Given the description of an element on the screen output the (x, y) to click on. 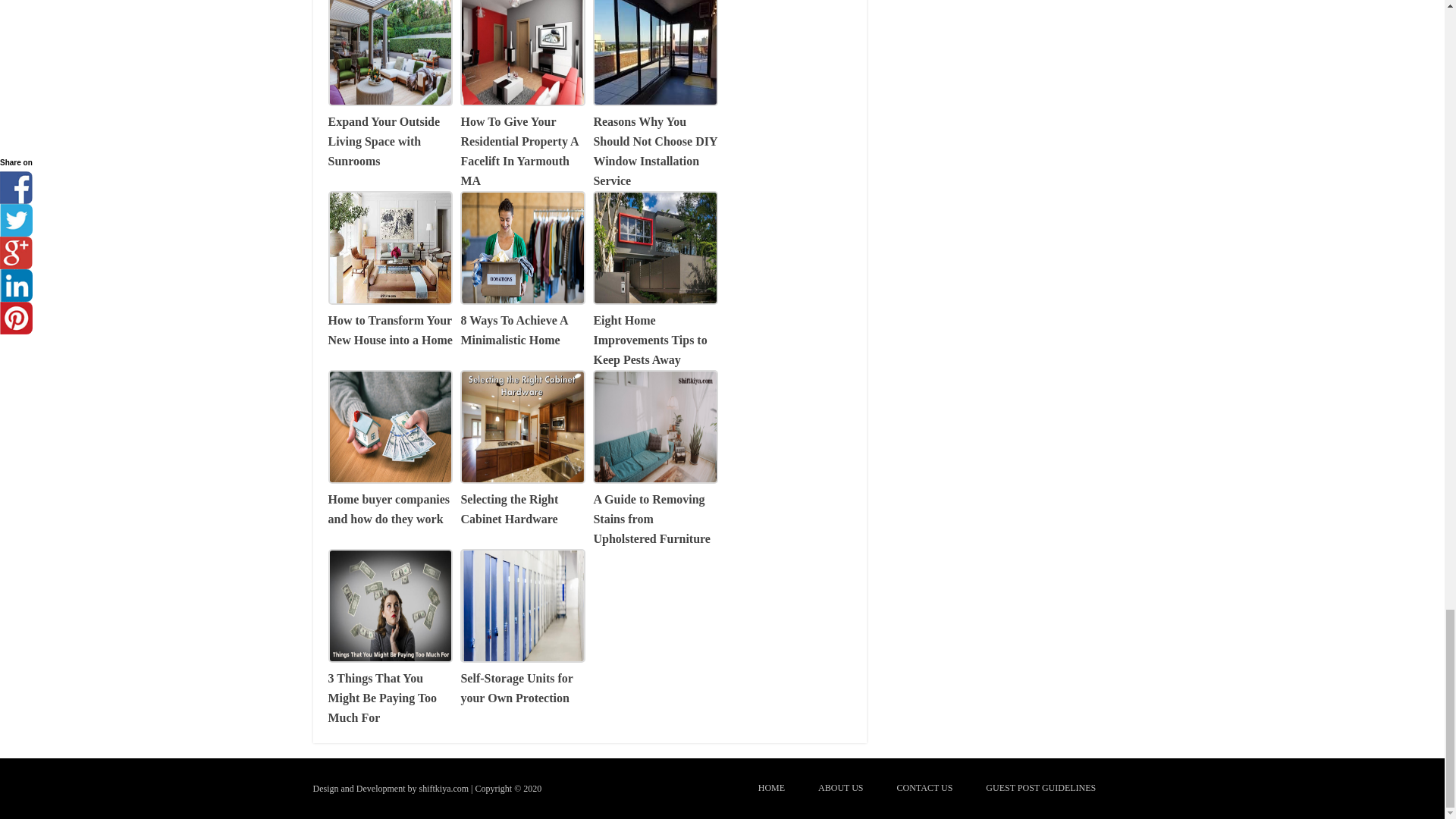
Permanent Link toHow to Transform Your New House into a Home (389, 320)
